Given the description of an element on the screen output the (x, y) to click on. 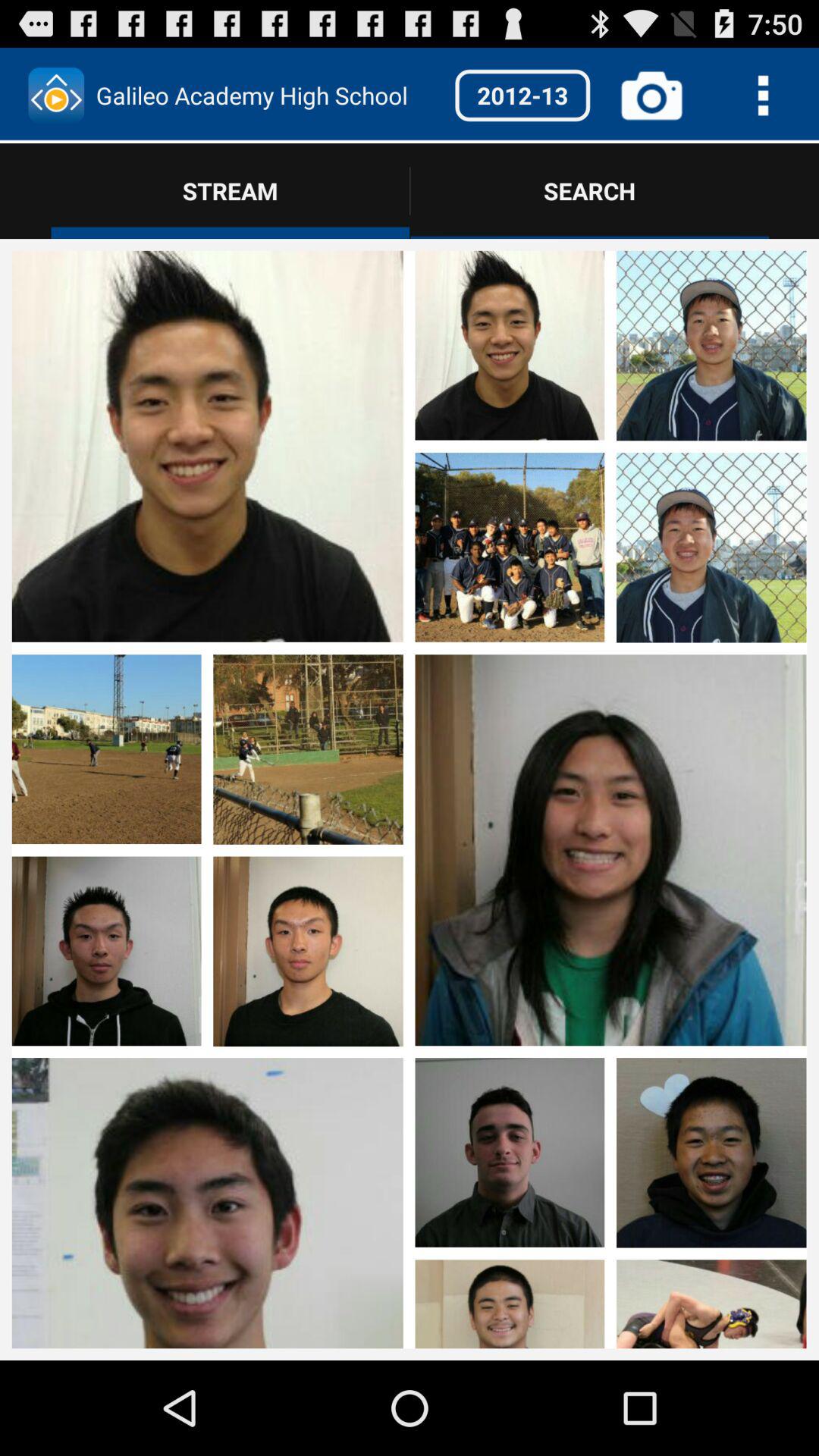
select stream (711, 750)
